Given the description of an element on the screen output the (x, y) to click on. 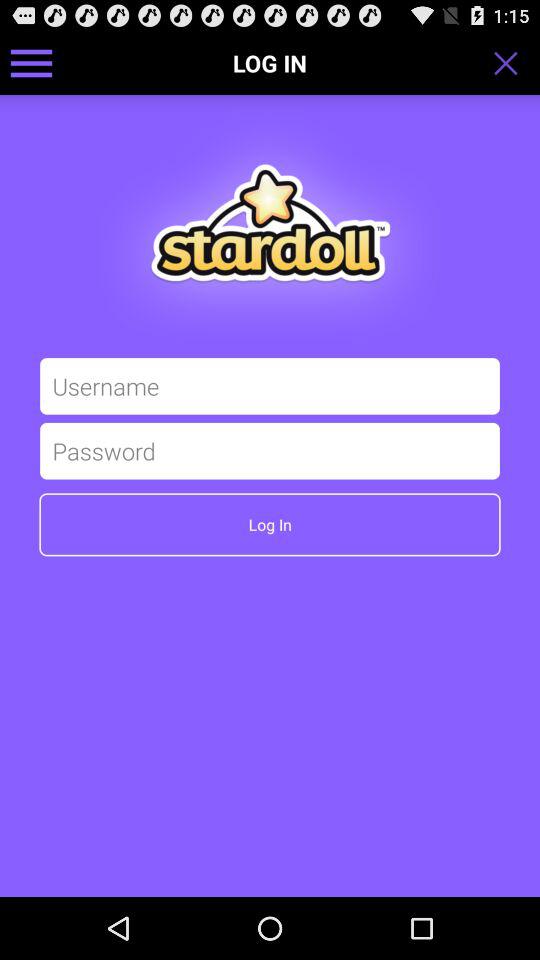
enter password (269, 450)
